Given the description of an element on the screen output the (x, y) to click on. 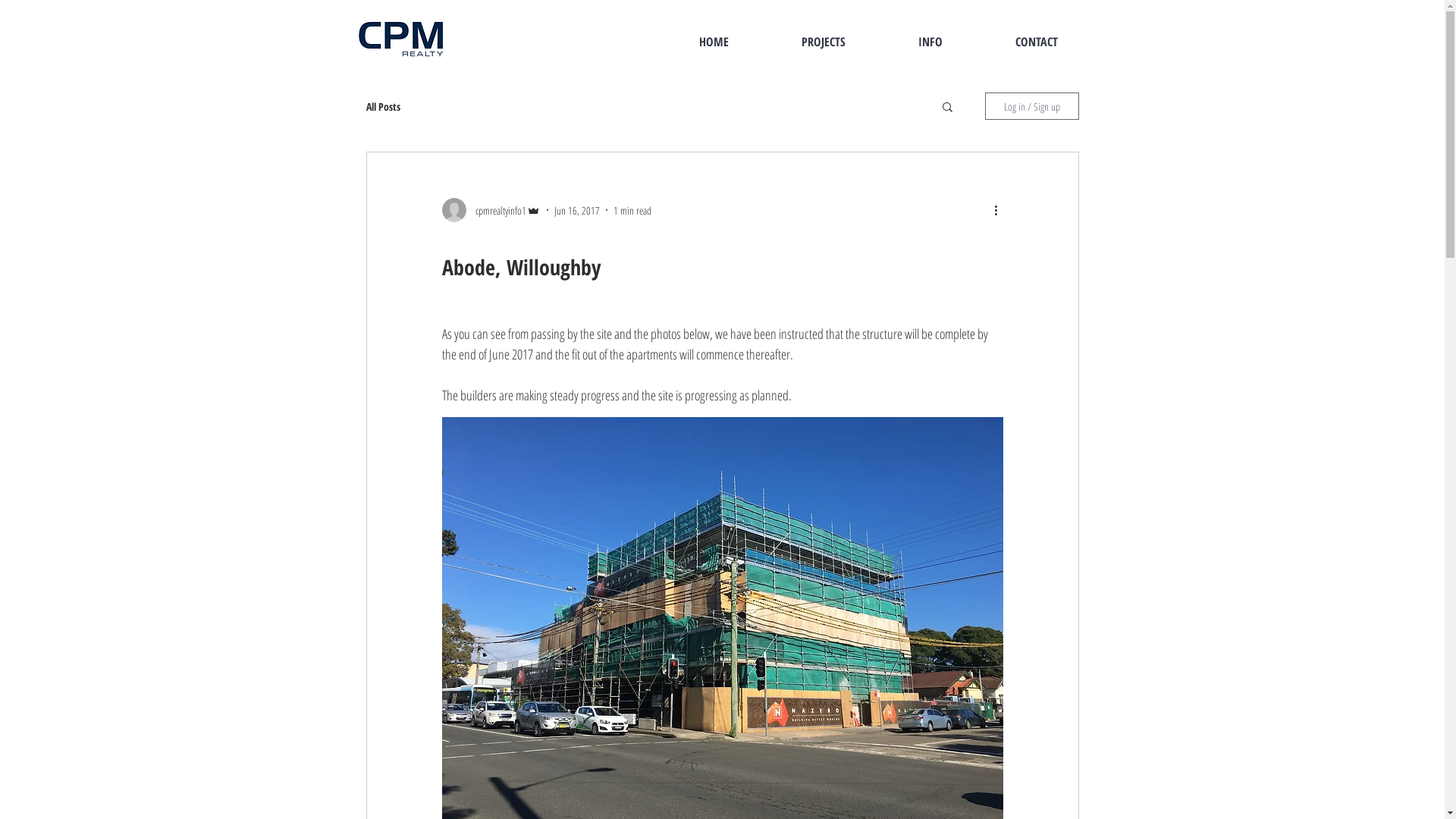
HOME Element type: text (713, 41)
INFO Element type: text (929, 41)
Log in / Sign up Element type: text (1031, 105)
CONTACT Element type: text (1035, 41)
All Posts Element type: text (382, 105)
PROJECTS Element type: text (822, 41)
